Given the description of an element on the screen output the (x, y) to click on. 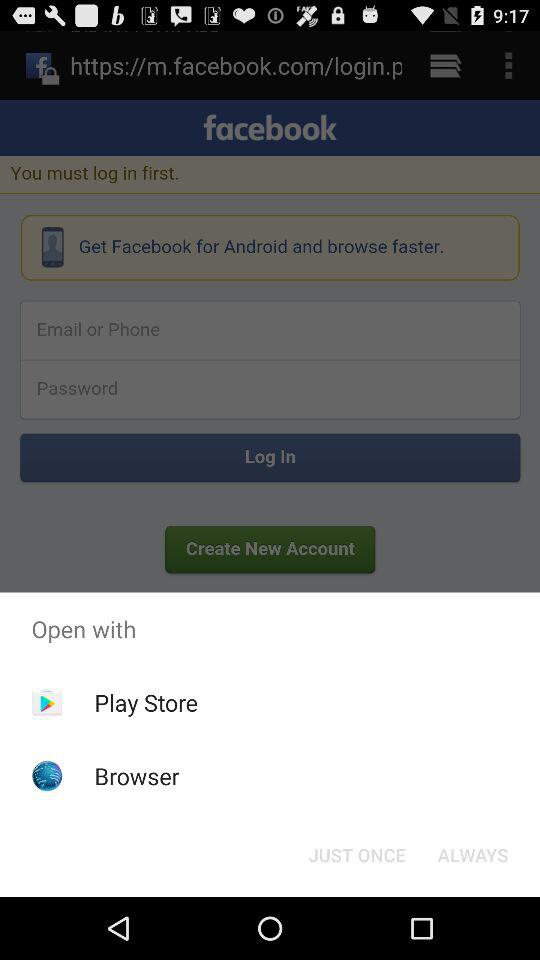
launch the item next to the always button (356, 854)
